Given the description of an element on the screen output the (x, y) to click on. 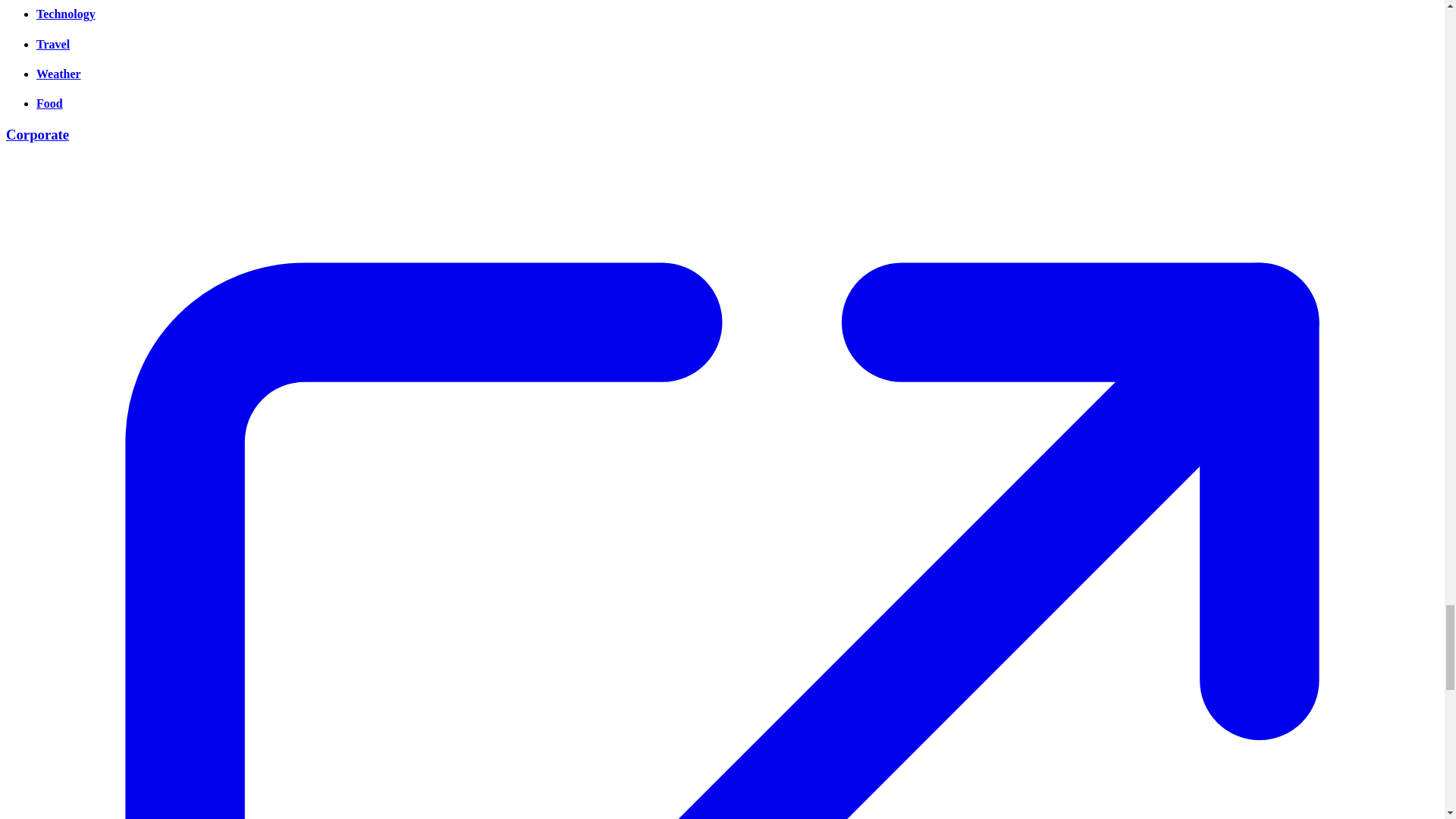
Travel (52, 43)
Food (49, 103)
Weather (58, 73)
Technology (66, 13)
